Given the description of an element on the screen output the (x, y) to click on. 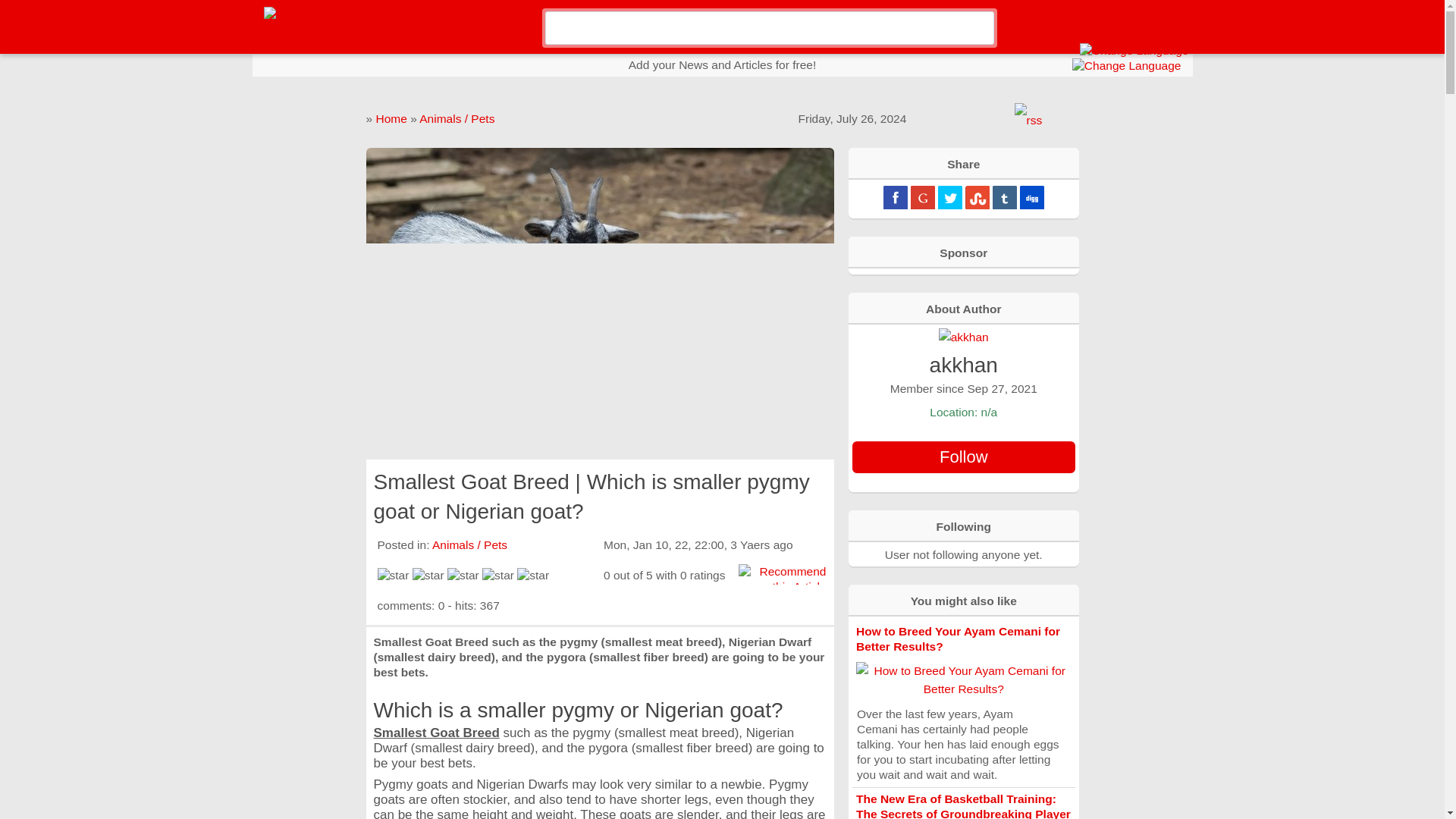
Share this page on googleplus (922, 197)
Change Language (1125, 65)
Search (980, 29)
Share this page on digg (1031, 197)
How to Breed Your Ayam Cemani for Better Results? (957, 638)
Change Language (1134, 50)
Share this page on tumblr (1004, 197)
Share this page on facebook (895, 197)
Share this page on twitter (949, 197)
Home (390, 118)
Recommend this Article (781, 579)
ArticleTed -  News and Articles (346, 12)
Follow (963, 457)
Share this page on stumbleupon (977, 197)
